Given the description of an element on the screen output the (x, y) to click on. 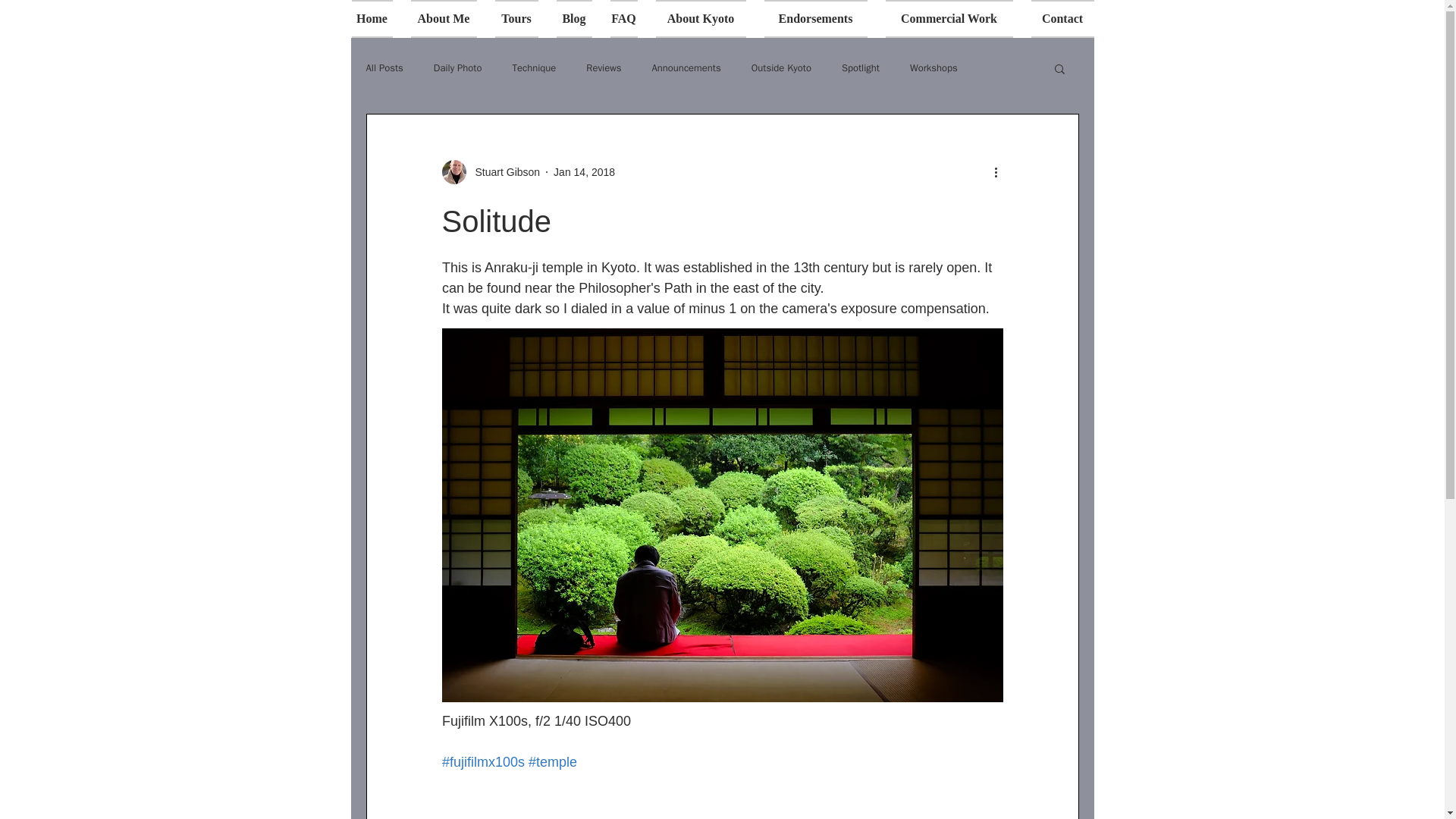
Blog (574, 18)
Spotlight (860, 68)
All Posts (384, 68)
Stuart Gibson (502, 171)
About Kyoto (700, 18)
Daily Photo (457, 68)
Tours (515, 18)
Reviews (603, 68)
Contact (1058, 18)
Jan 14, 2018 (583, 171)
Home (376, 18)
FAQ (622, 18)
Endorsements (815, 18)
Commercial Work (949, 18)
Workshops (934, 68)
